Given the description of an element on the screen output the (x, y) to click on. 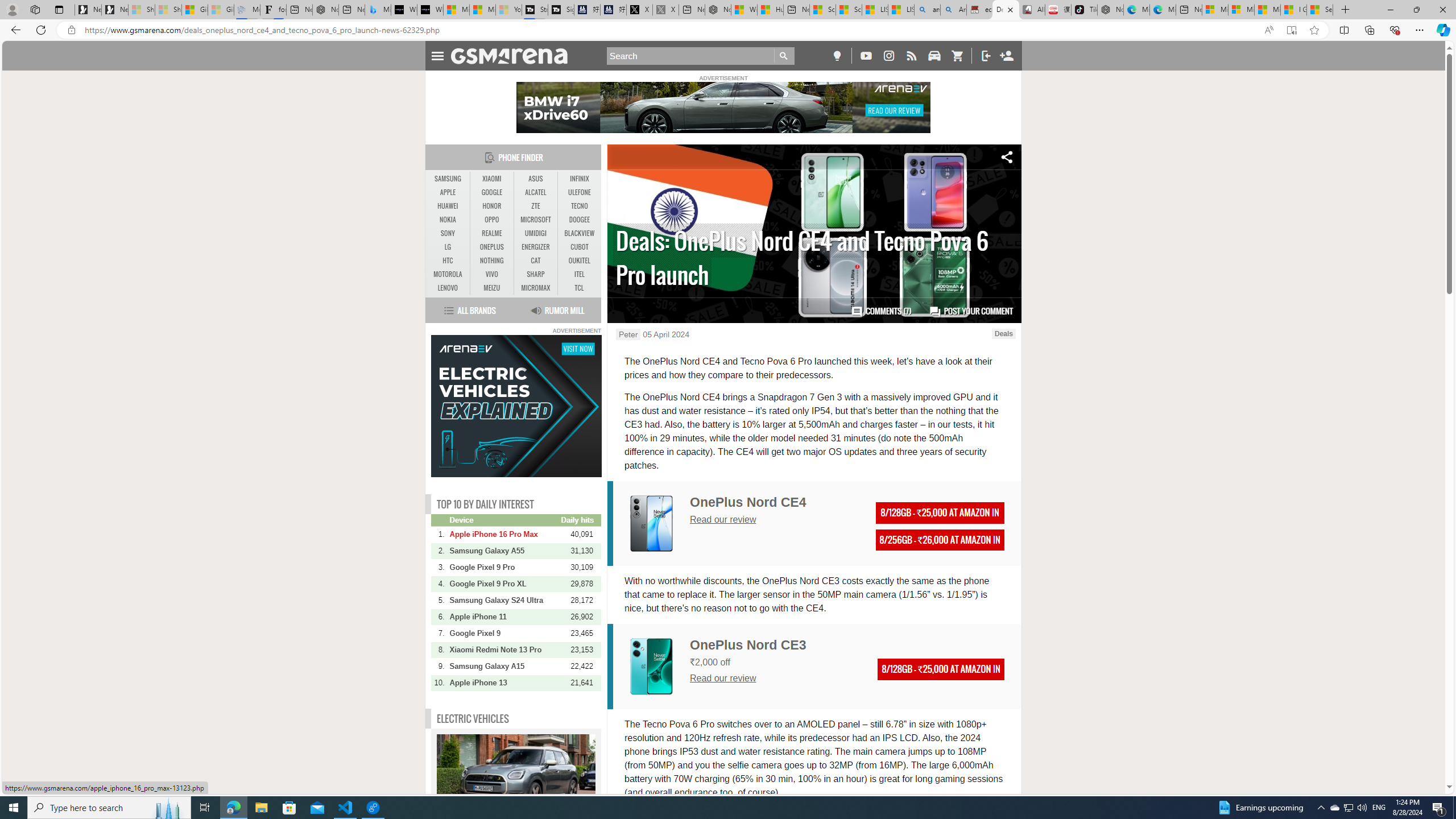
Go (784, 55)
SHARP (535, 273)
Streaming Coverage | T3 (534, 9)
ONEPLUS (491, 246)
ENERGIZER (535, 246)
Nordace - My Account (717, 9)
ENERGIZER (535, 246)
ITEL (579, 273)
OnePlus Nord CE3 (651, 666)
